Given the description of an element on the screen output the (x, y) to click on. 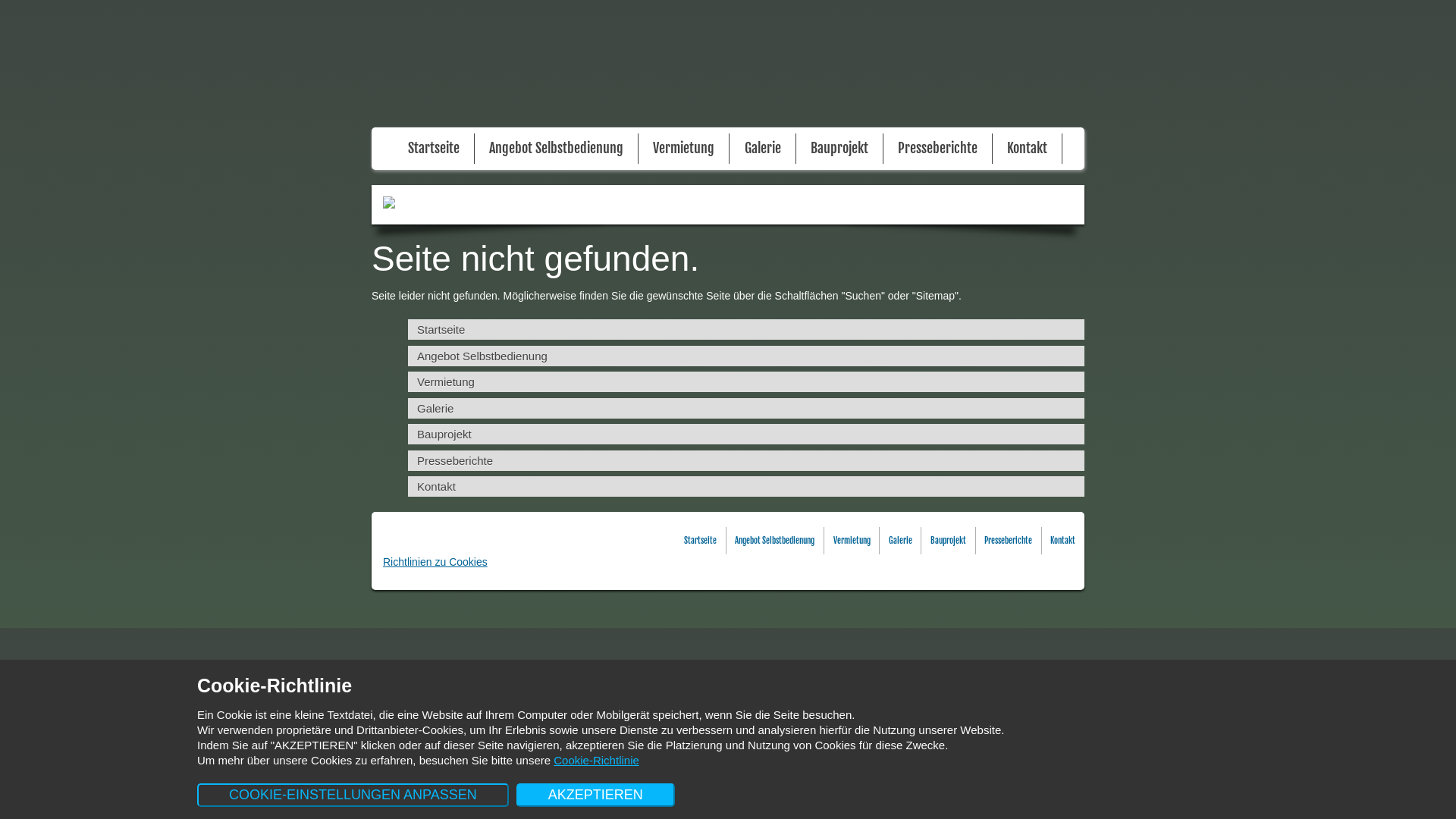
Vermietung Element type: text (745, 381)
Richtlinien zu Cookies Element type: text (434, 561)
Presseberichte Element type: text (745, 460)
Vermietung Element type: text (851, 540)
Cookie-Richtlinie Element type: text (596, 759)
Bauprojekt Element type: text (947, 540)
Angebot Selbstbedienung Element type: text (555, 148)
AKZEPTIEREN Element type: text (595, 794)
Angebot Selbstbedienung Element type: text (745, 355)
Kontakt Element type: text (1062, 540)
Galerie Element type: text (762, 148)
Kontakt Element type: text (745, 486)
Bauprojekt Element type: text (745, 433)
Vermietung Element type: text (683, 148)
Startseite Element type: text (433, 148)
    Element type: text (727, 63)
Presseberichte Element type: text (1007, 540)
Galerie Element type: text (900, 540)
Galerie Element type: text (745, 408)
Startseite Element type: text (745, 329)
Kontakt Element type: text (1026, 148)
Bauprojekt Element type: text (839, 148)
COOKIE-EINSTELLUNGEN ANPASSEN Element type: text (352, 794)
Startseite Element type: text (700, 540)
Presseberichte Element type: text (937, 148)
Angebot Selbstbedienung Element type: text (774, 540)
